Given the description of an element on the screen output the (x, y) to click on. 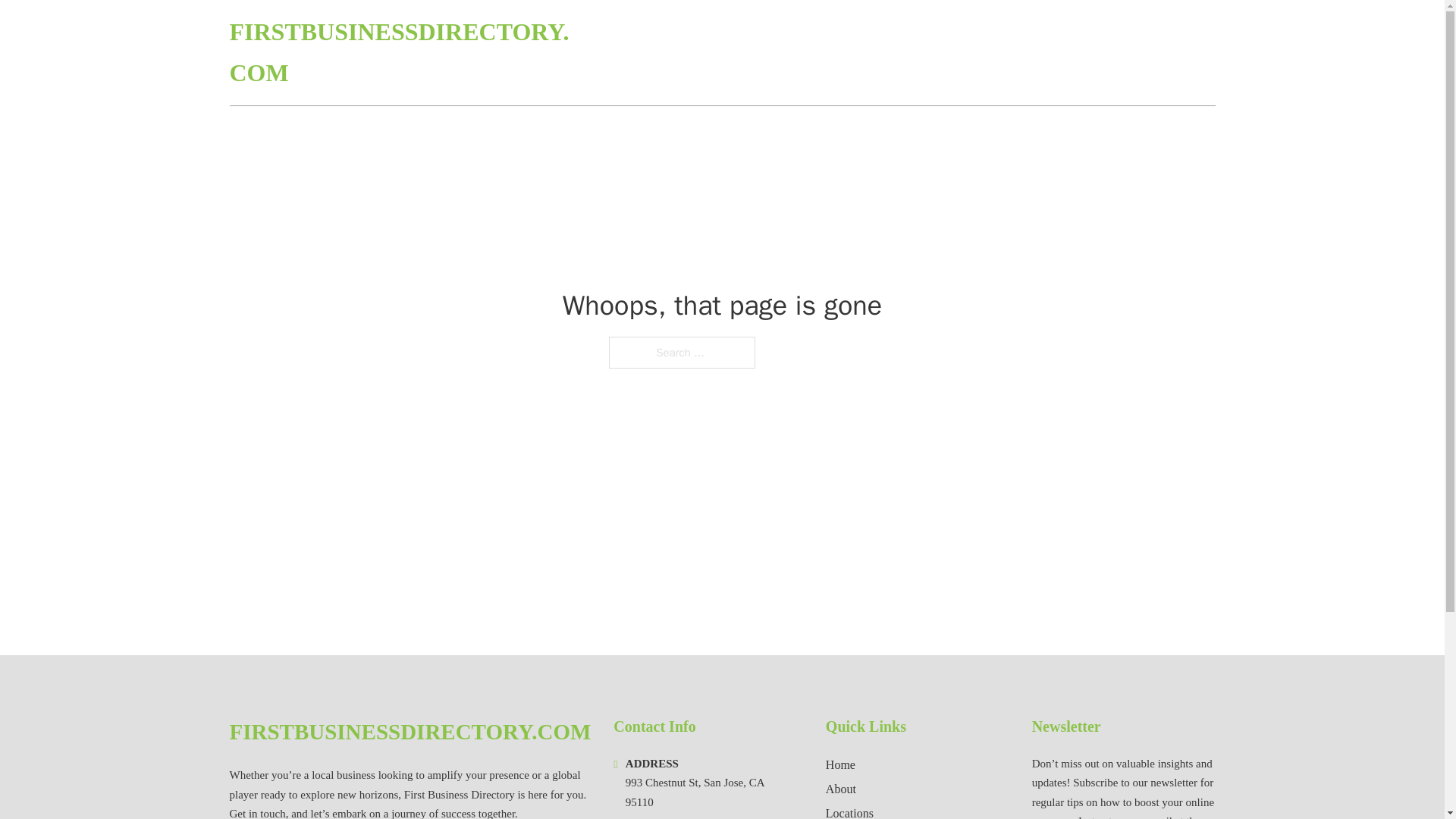
About (840, 788)
FIRSTBUSINESSDIRECTORY.COM (409, 732)
LOCATIONS (1105, 53)
Home (840, 764)
FIRSTBUSINESSDIRECTORY.COM (400, 52)
HOME (1032, 53)
Locations (849, 811)
